Given the description of an element on the screen output the (x, y) to click on. 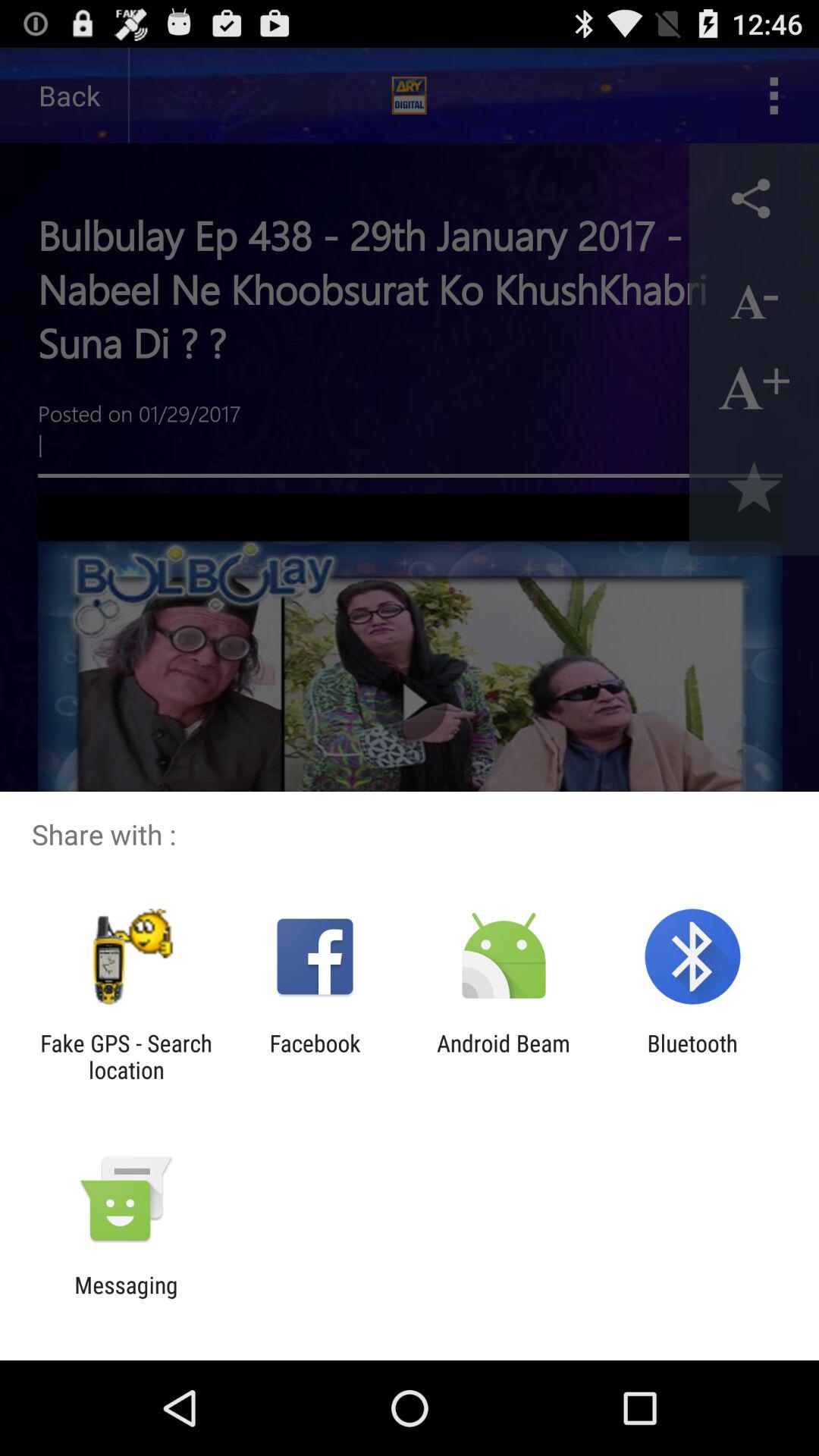
open app next to the facebook icon (125, 1056)
